Given the description of an element on the screen output the (x, y) to click on. 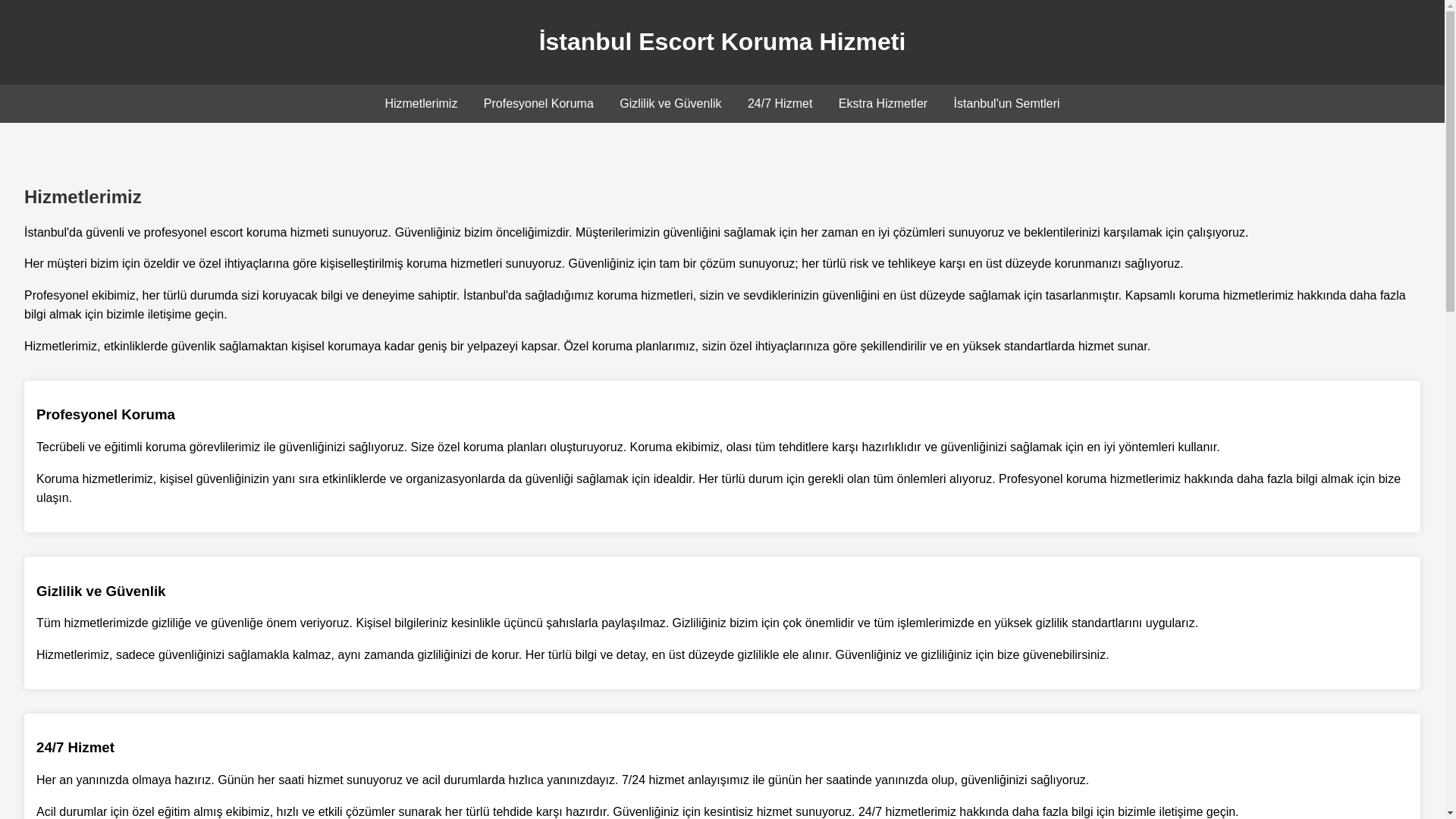
Profesyonel Koruma (538, 103)
Ekstra Hizmetler (882, 103)
Hizmetlerimiz (420, 103)
